Given the description of an element on the screen output the (x, y) to click on. 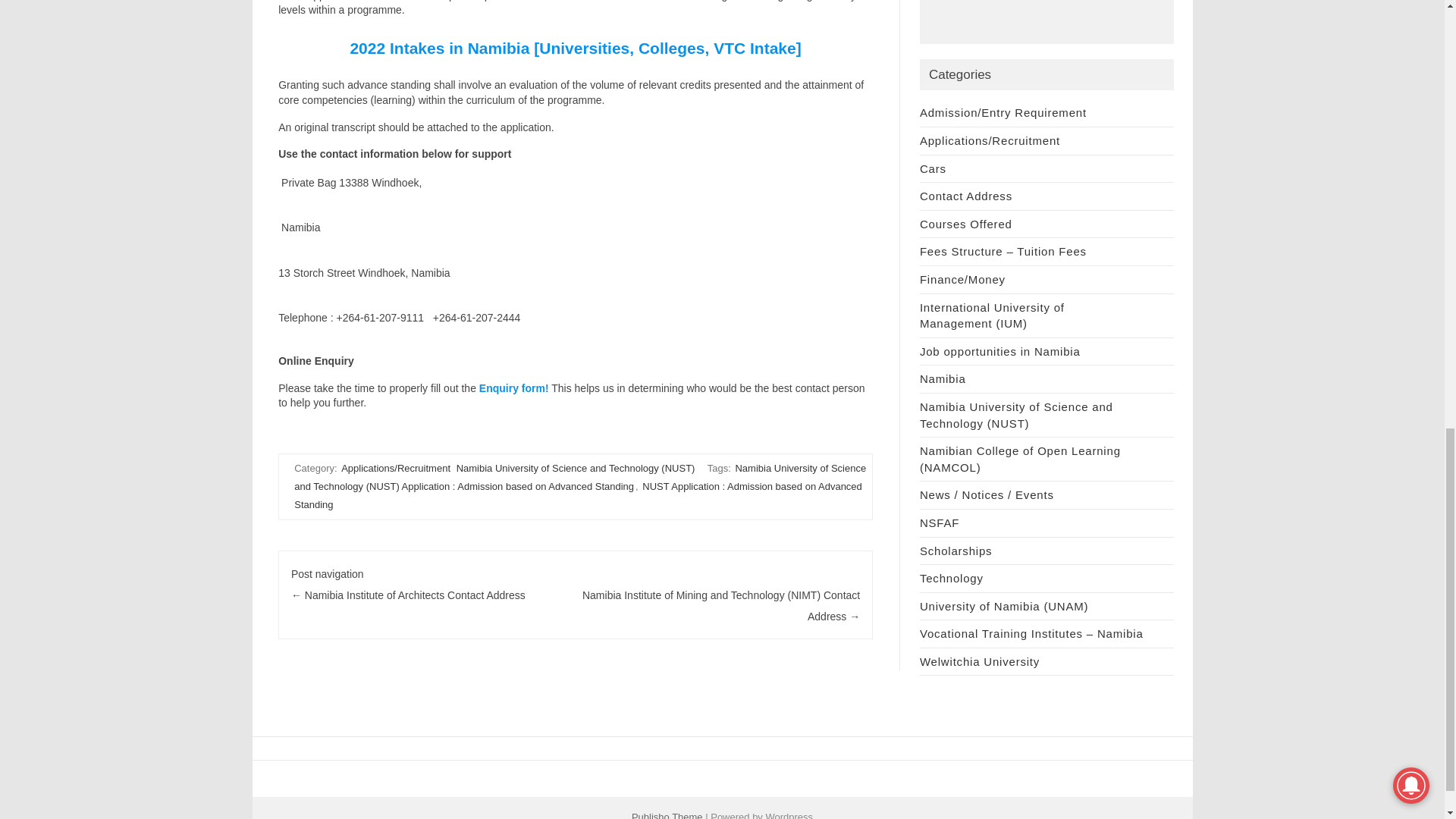
Enquiry form! (513, 387)
NUST Application : Admission based on Advanced Standing (577, 495)
Advertisement (1046, 22)
